Given the description of an element on the screen output the (x, y) to click on. 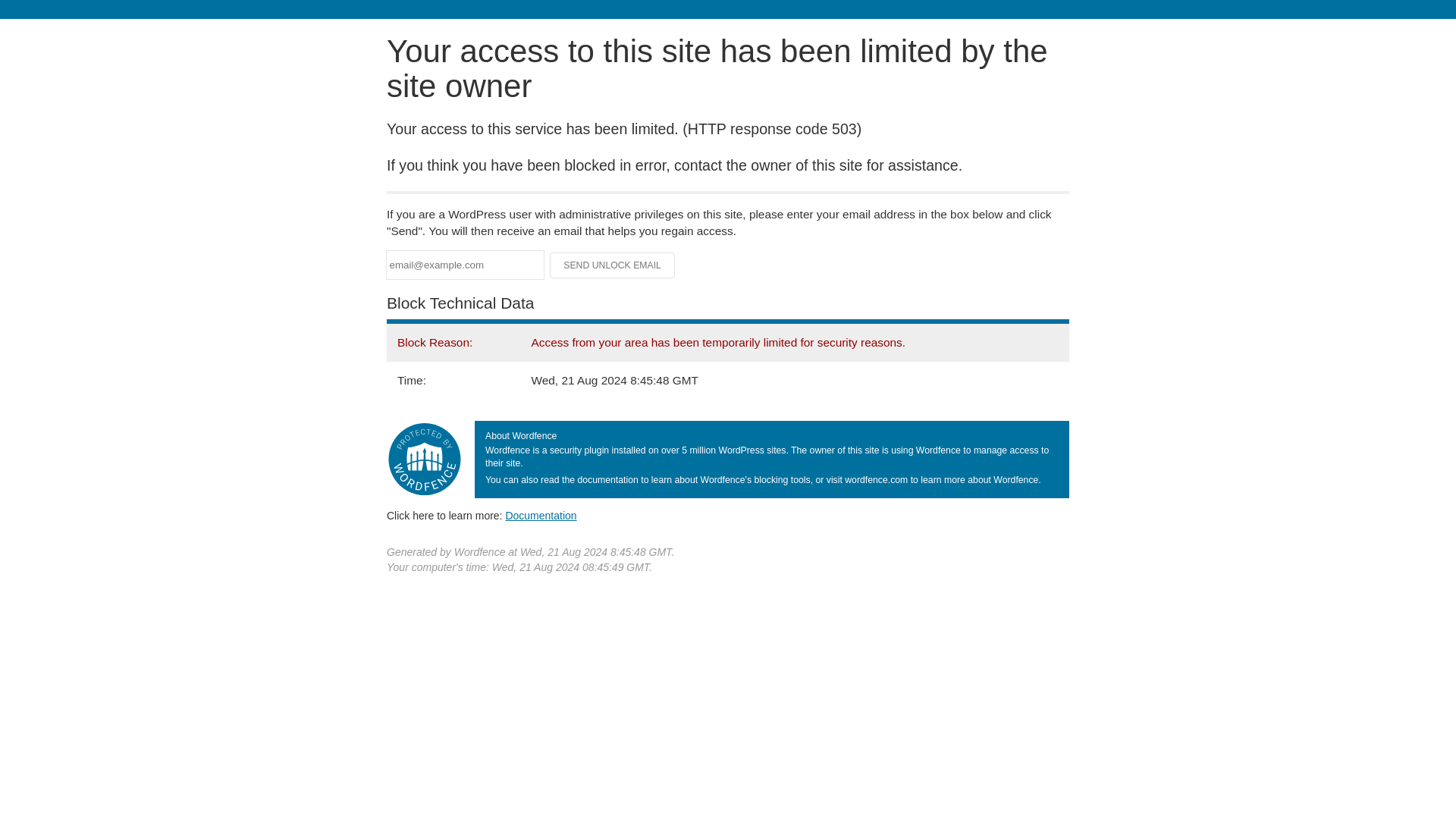
Send Unlock Email (612, 265)
Documentation (540, 515)
Send Unlock Email (612, 265)
